Given the description of an element on the screen output the (x, y) to click on. 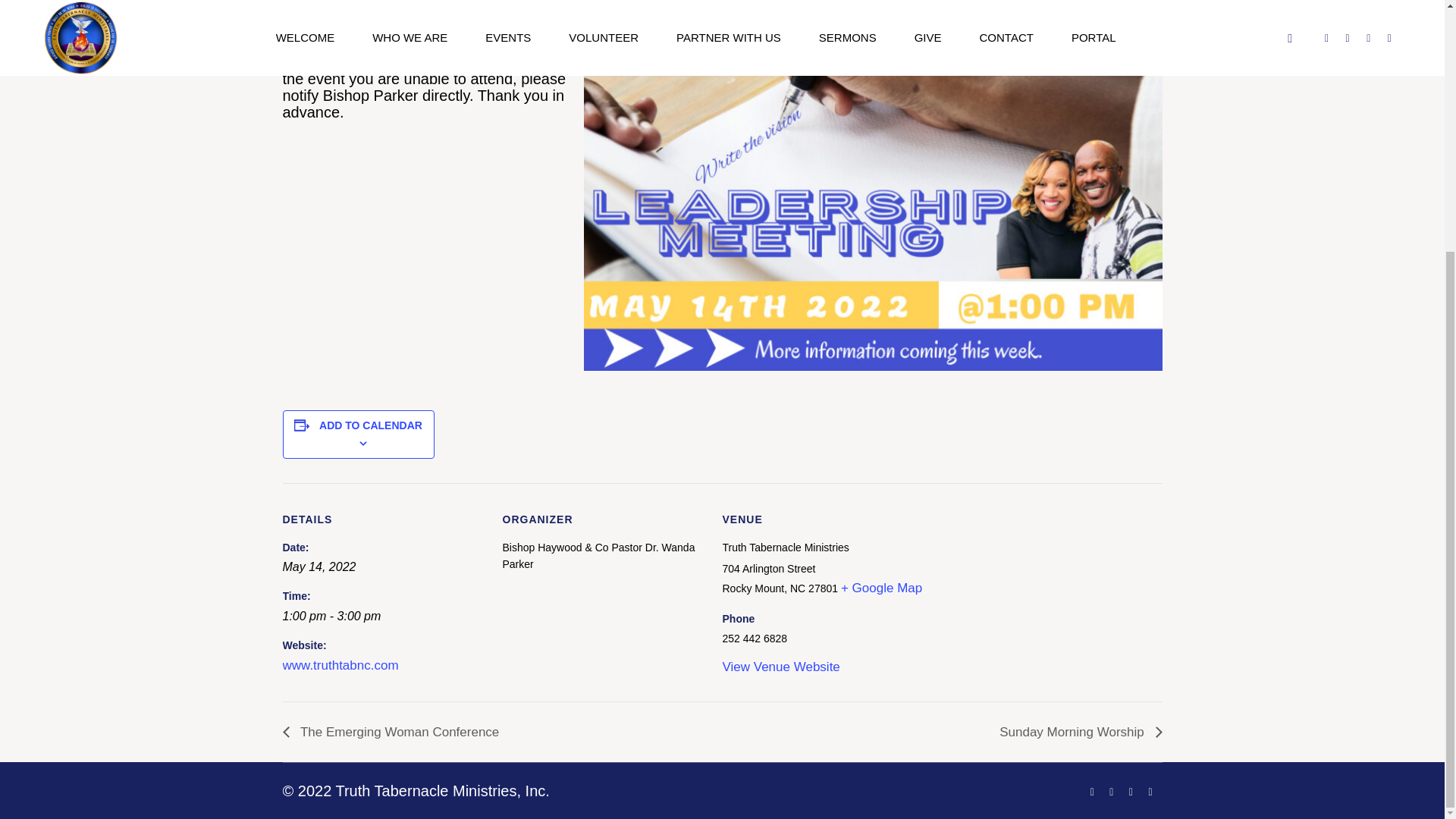
Sunday Morning Worship (1076, 731)
2022-05-14 (318, 566)
www.truthtabnc.com (339, 665)
View Venue Website (781, 667)
Twitter (1111, 792)
Facebook (1091, 792)
YouTube (1130, 792)
ADD TO CALENDAR (370, 425)
Click to view a Google Map (881, 587)
The Emerging Woman Conference (394, 731)
